Given the description of an element on the screen output the (x, y) to click on. 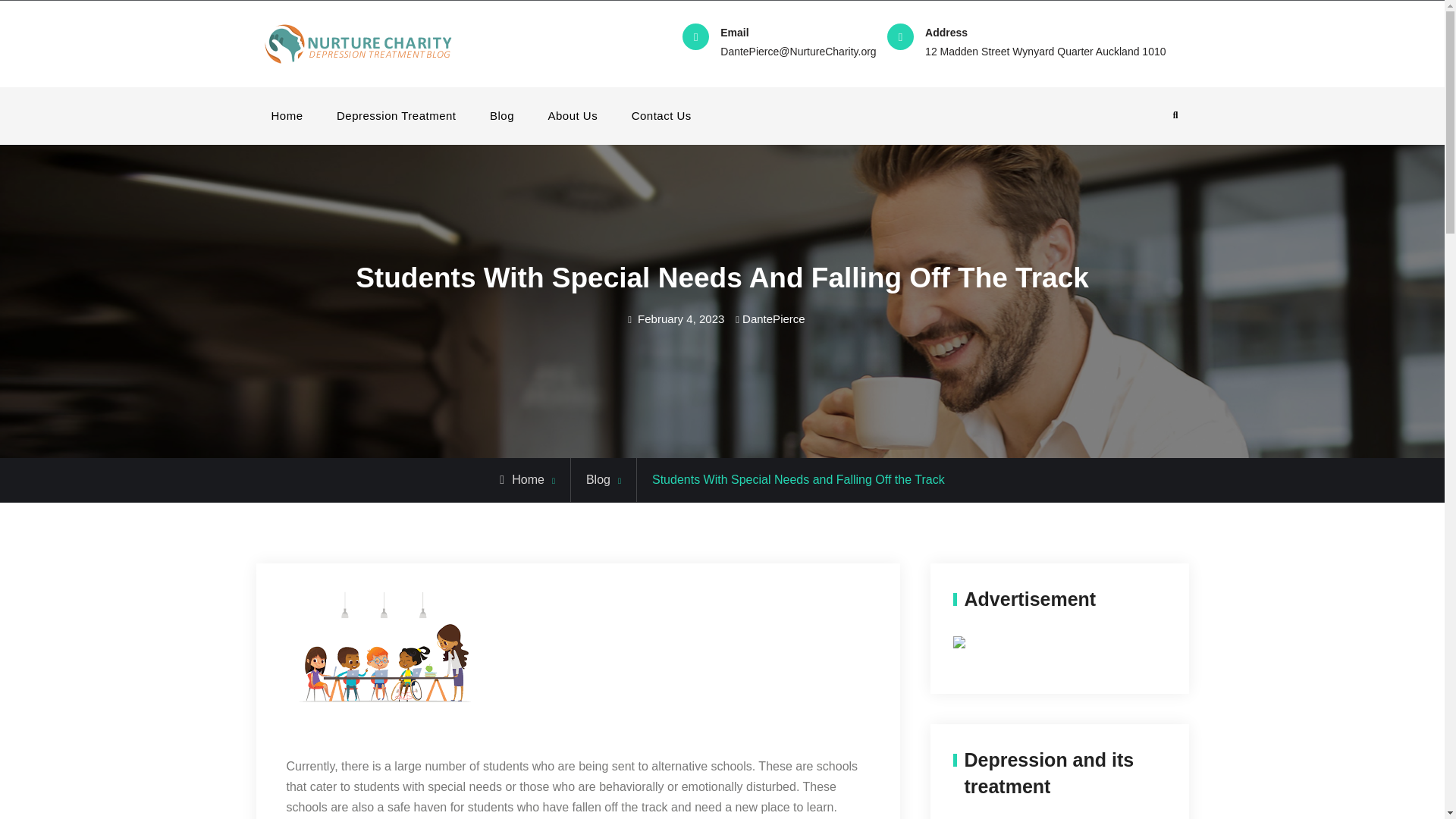
Home (287, 115)
DantePierce (773, 318)
Nurture Charity (543, 43)
Depression Treatment (396, 115)
Contact Us (660, 115)
Search (1174, 115)
February 4, 2023 (680, 318)
Blog (598, 479)
Blog (501, 115)
About Us (572, 115)
